Given the description of an element on the screen output the (x, y) to click on. 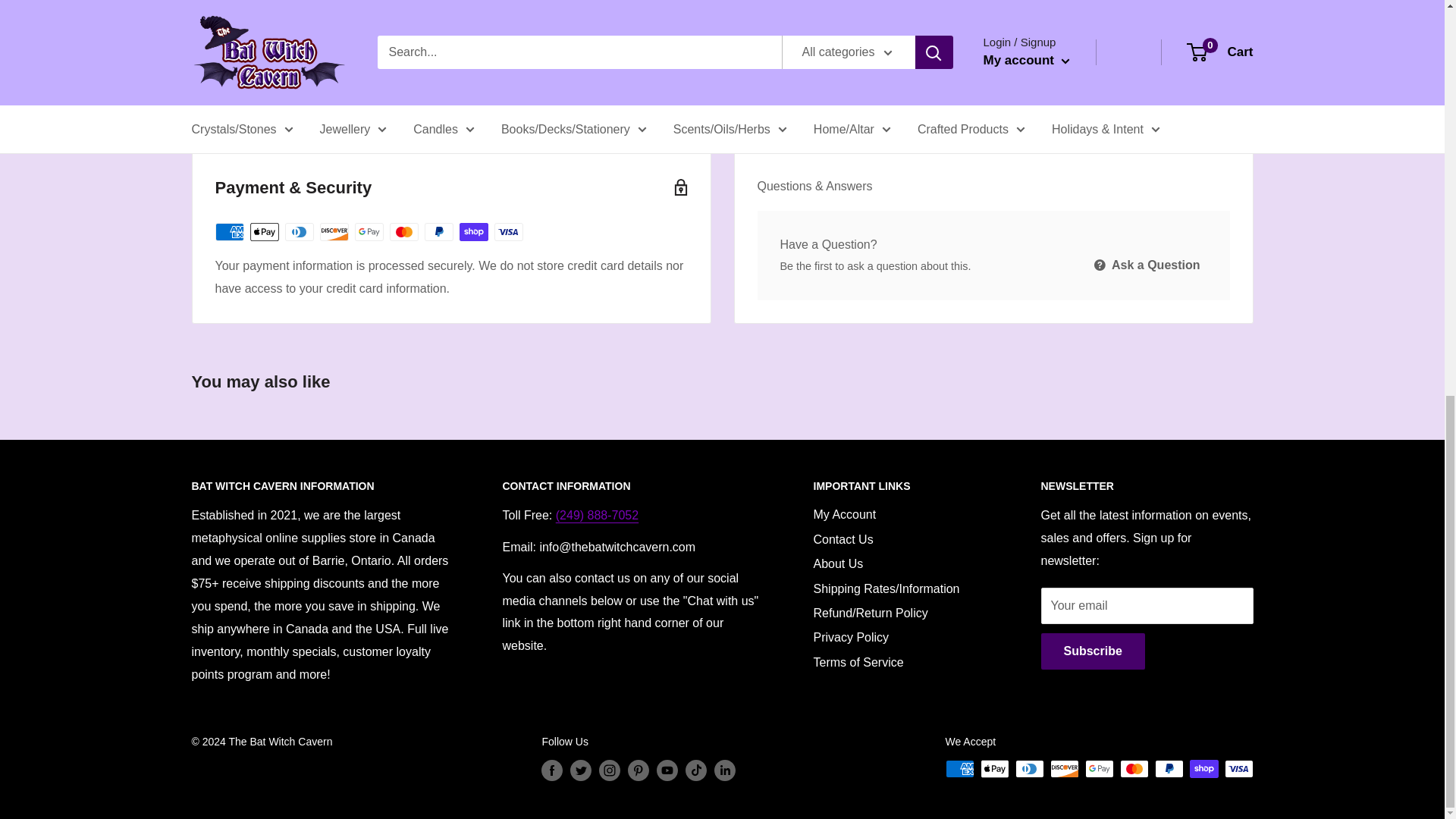
tel:2498887052 (597, 514)
